Given the description of an element on the screen output the (x, y) to click on. 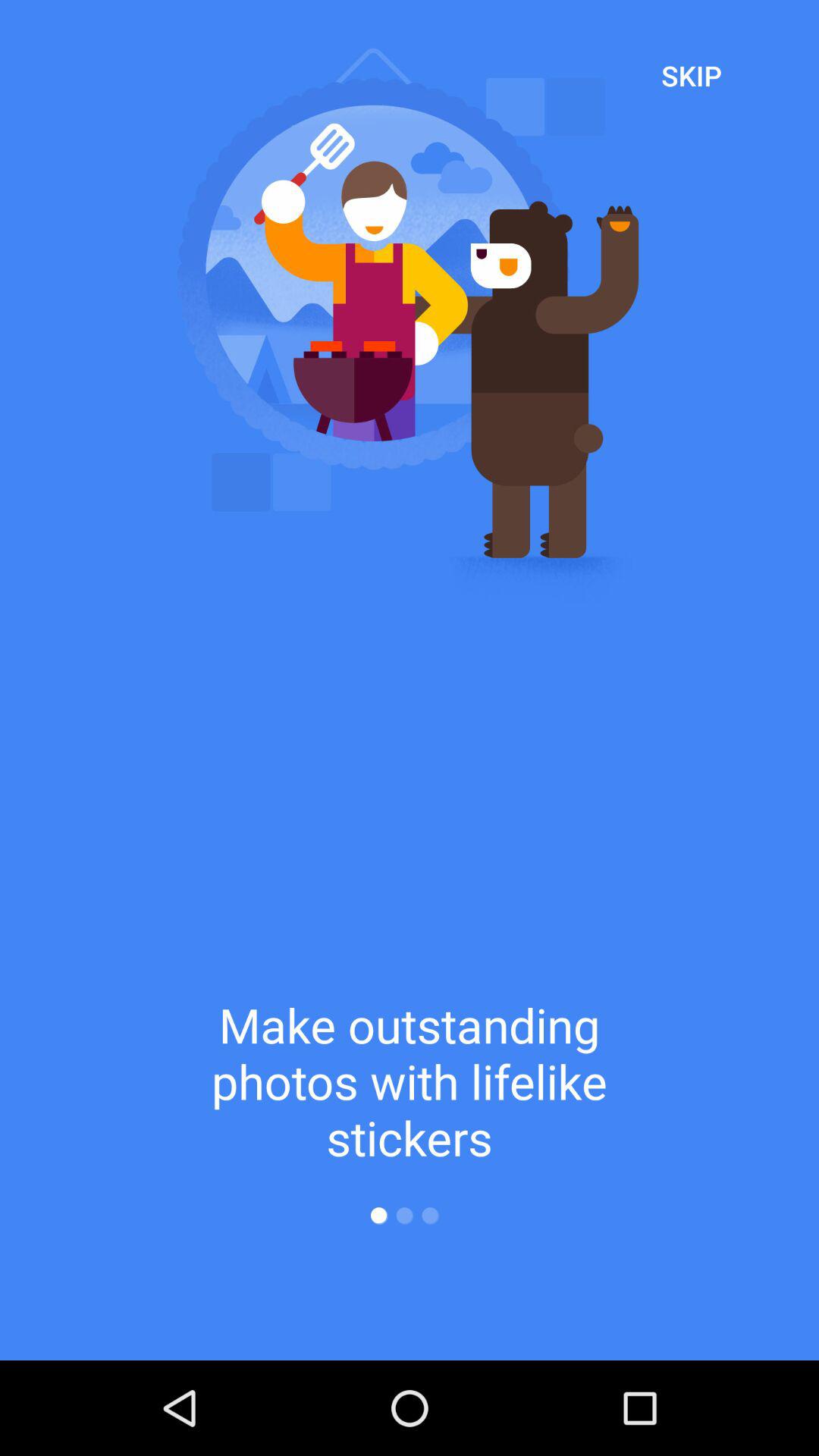
launch the item above the make outstanding photos (691, 75)
